Given the description of an element on the screen output the (x, y) to click on. 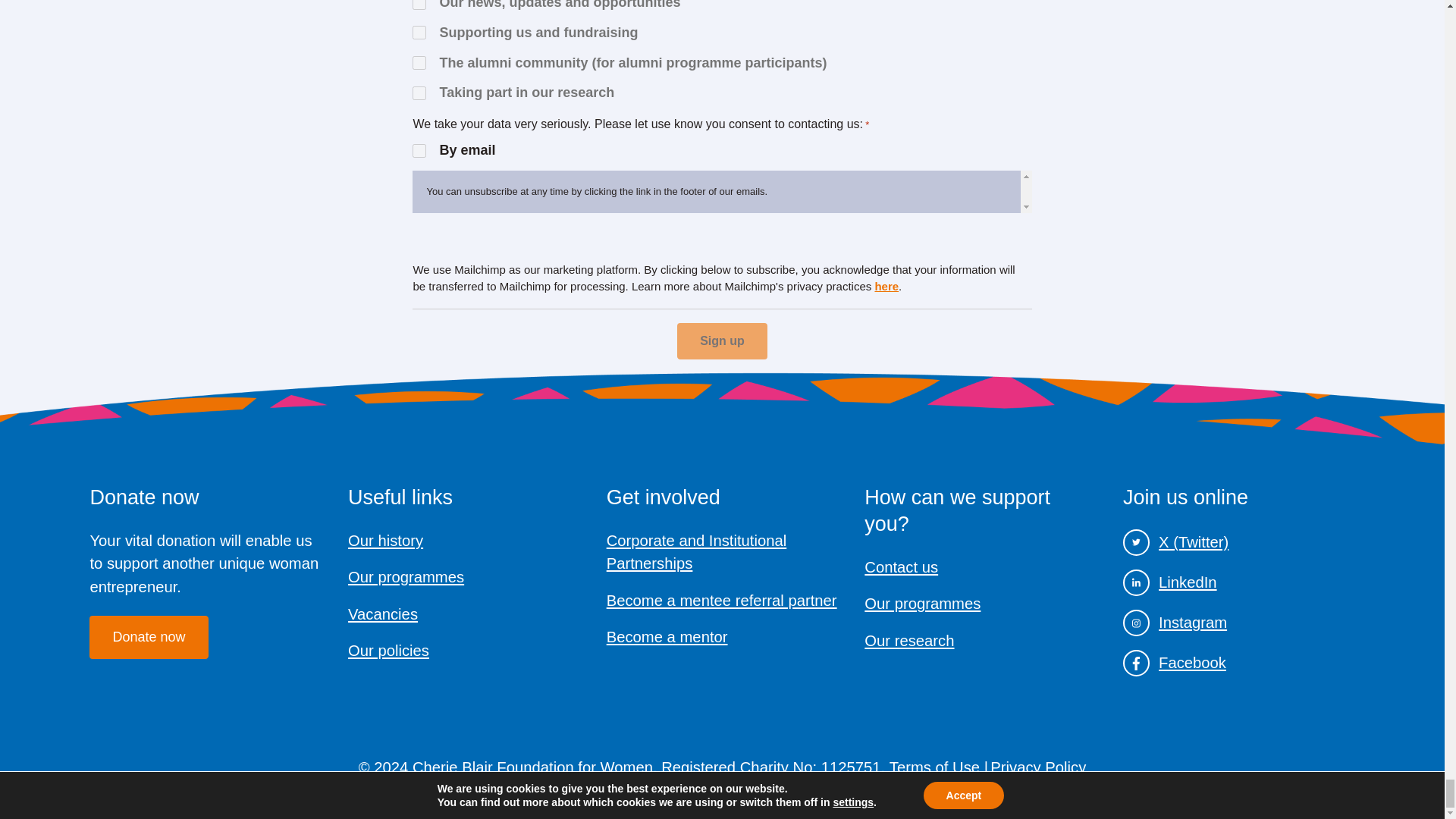
Supporting us and fundraising (419, 32)
Taking part in our research (419, 92)
Our news, updates and opportunities (419, 4)
1 (419, 151)
Sign up (722, 340)
